Given the description of an element on the screen output the (x, y) to click on. 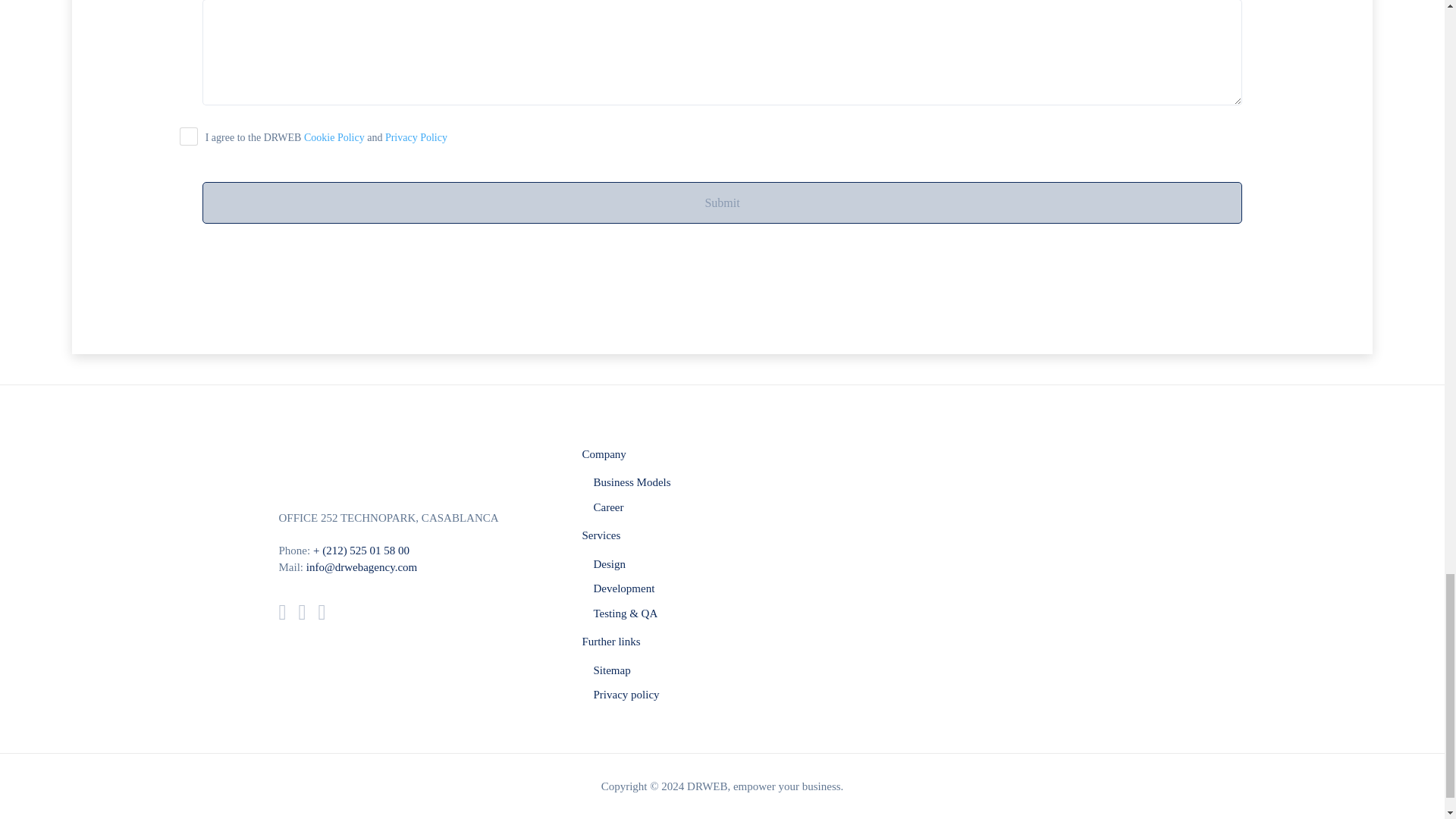
1 (188, 136)
Submit (722, 202)
